Given the description of an element on the screen output the (x, y) to click on. 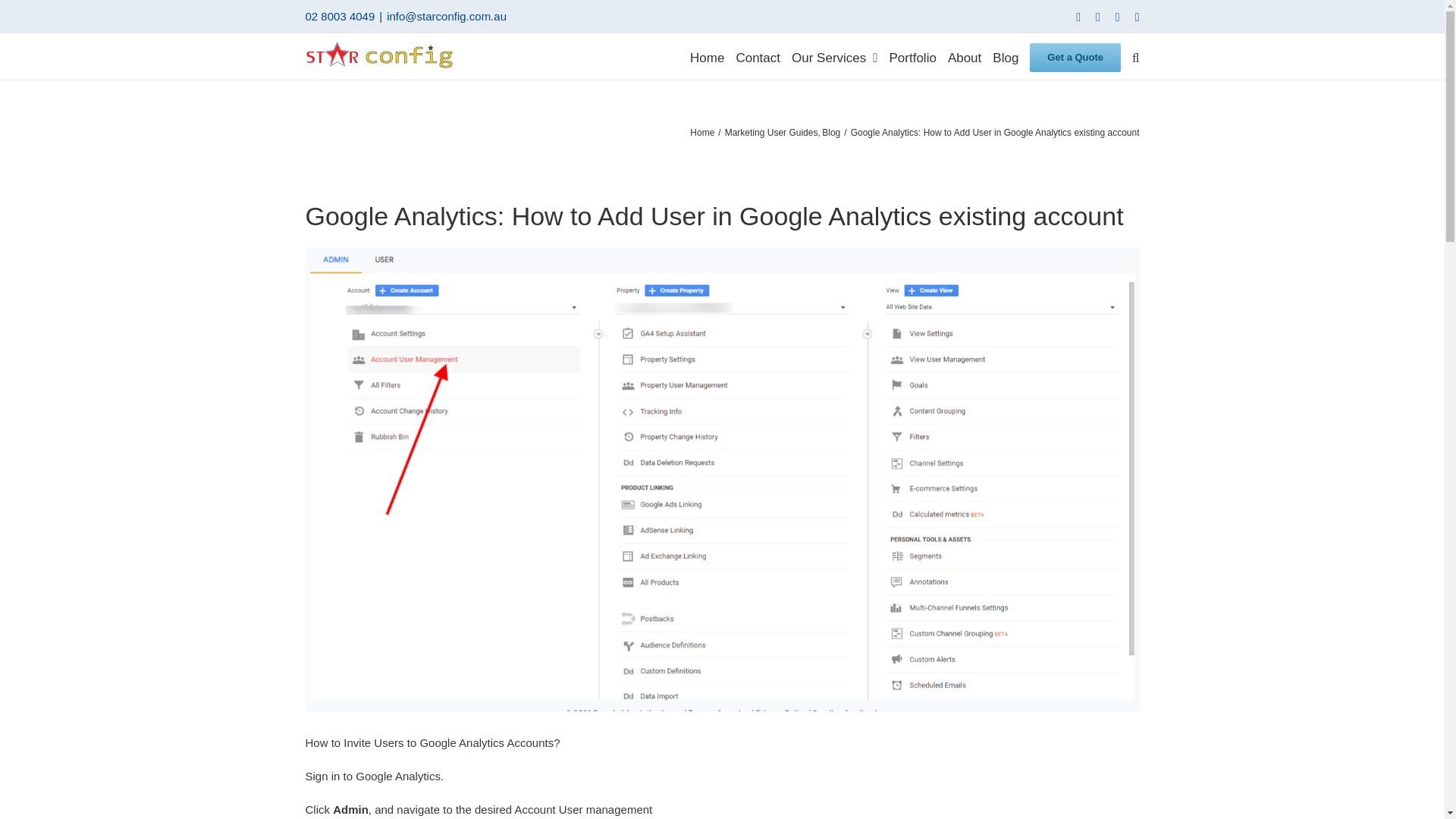
02 8003 4049 (339, 15)
Get a Quote (1075, 56)
Contact (757, 56)
Our Services (834, 56)
Portfolio (912, 56)
